Given the description of an element on the screen output the (x, y) to click on. 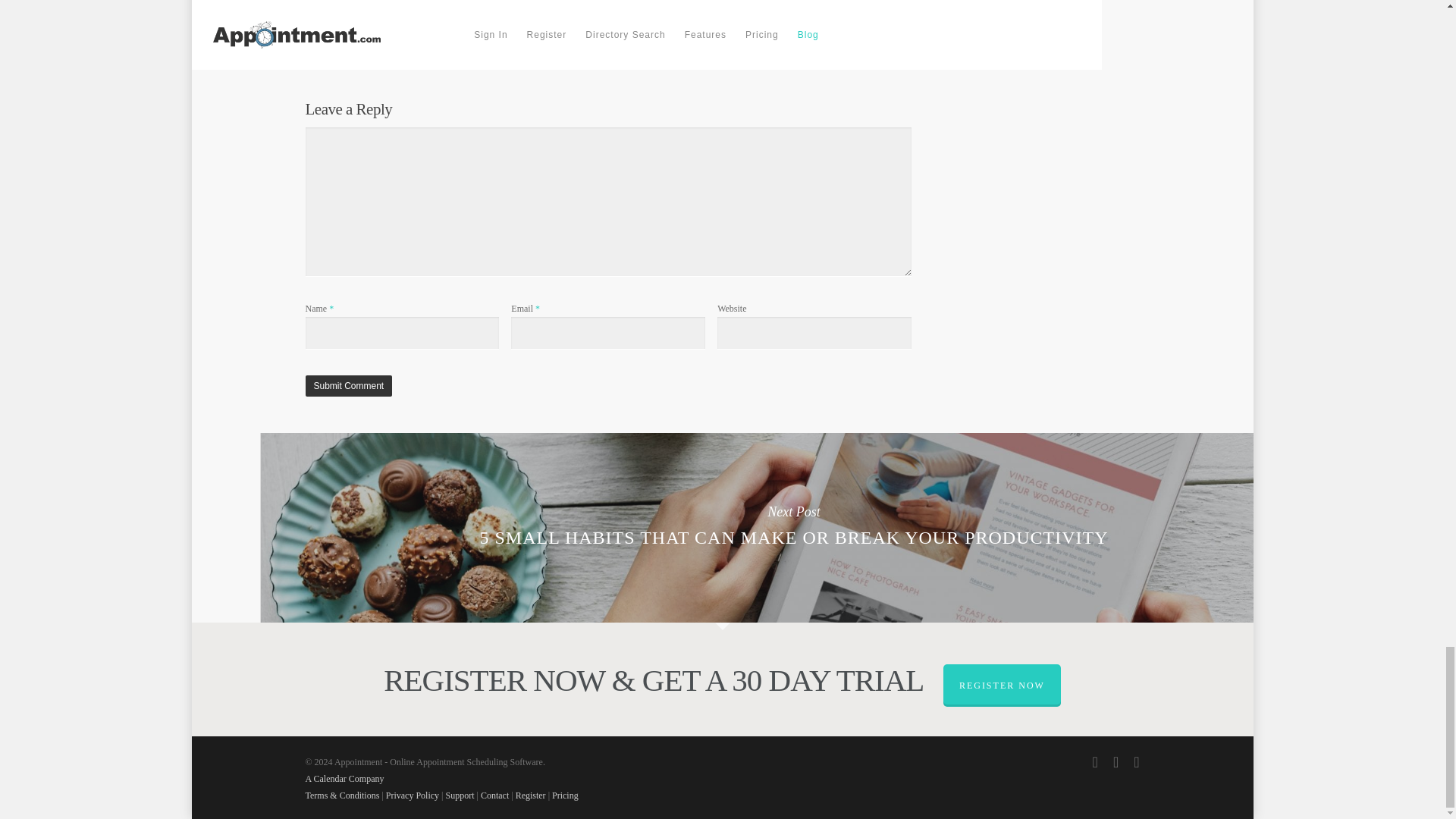
Submit Comment (347, 385)
